Given the description of an element on the screen output the (x, y) to click on. 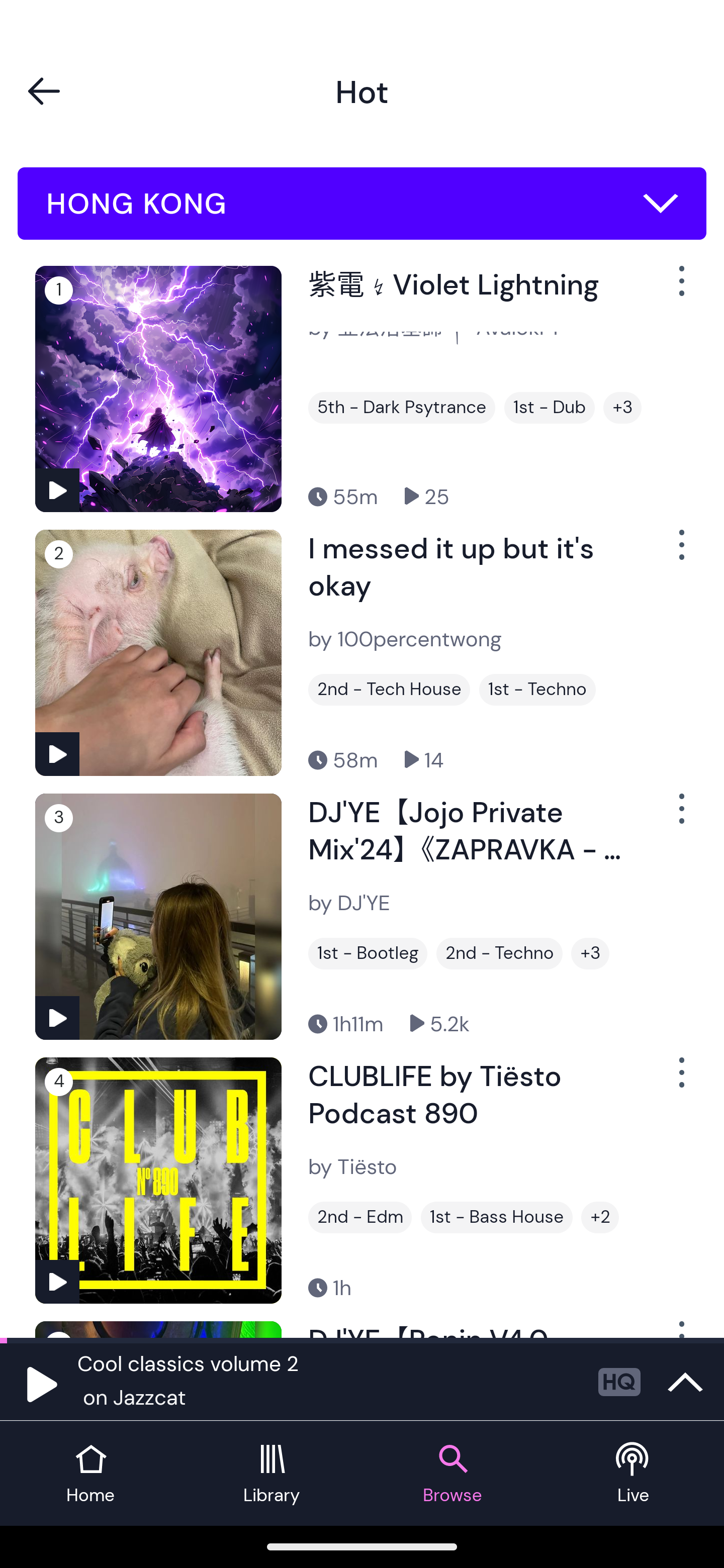
HONG KONG (361, 203)
Show Options Menu Button (679, 289)
5th - Dark Psytrance (401, 407)
1st - Dub (549, 407)
Show Options Menu Button (679, 552)
2nd - Tech House (388, 689)
1st - Techno (537, 689)
Show Options Menu Button (679, 815)
1st - Bootleg (367, 953)
2nd - Techno (499, 953)
Show Options Menu Button (679, 1079)
2nd - Edm (359, 1217)
1st - Bass House (496, 1217)
Home tab Home (90, 1473)
Library tab Library (271, 1473)
Browse tab Browse (452, 1473)
Live tab Live (633, 1473)
